Given the description of an element on the screen output the (x, y) to click on. 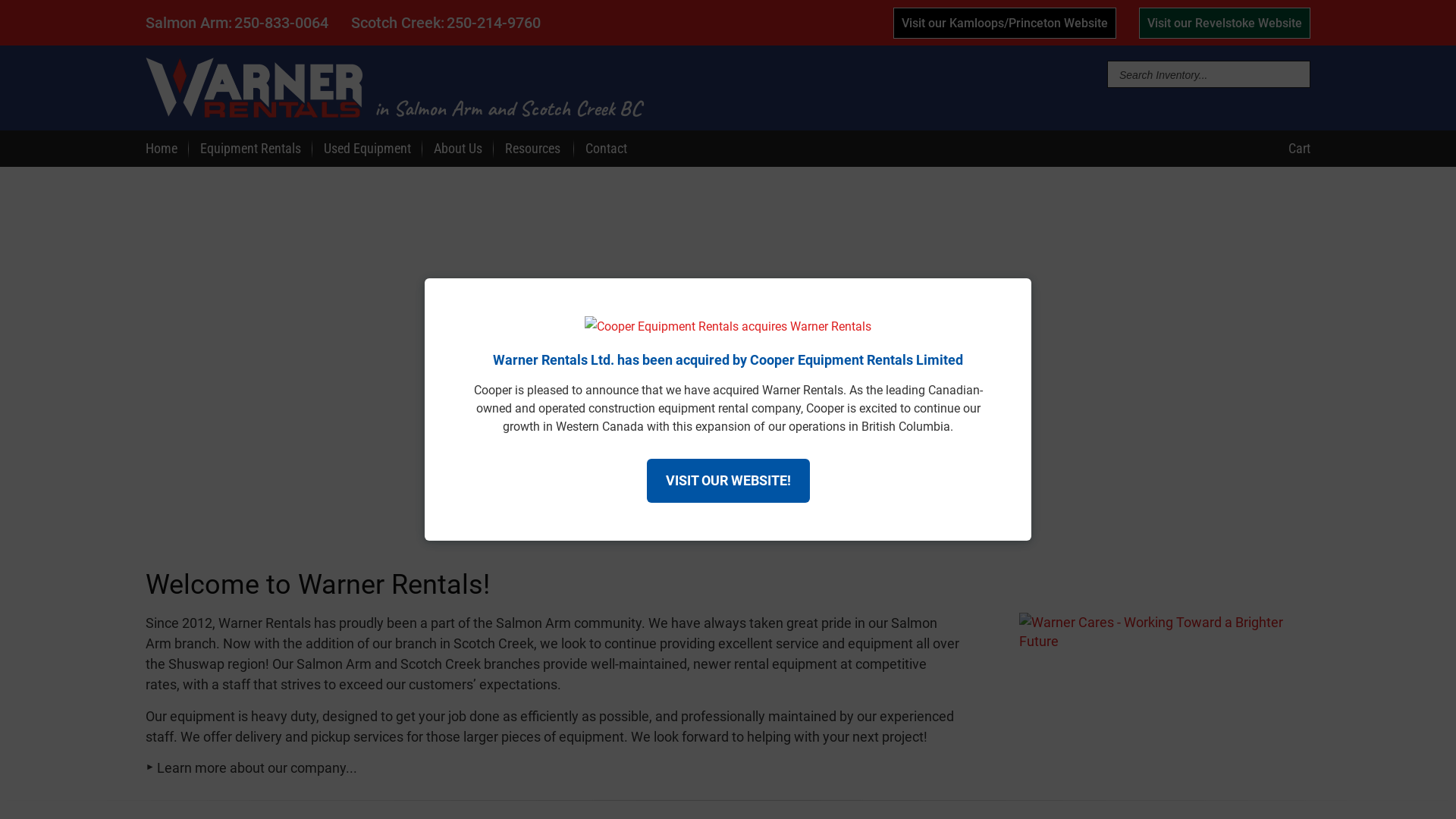
About Us Element type: text (457, 148)
Cart Element type: text (1298, 148)
Equipment Rentals Element type: text (250, 148)
VISIT OUR WEBSITE! Element type: text (727, 480)
Cooper Equipment Rentals website Element type: hover (727, 326)
250-833-0064 Element type: text (281, 22)
Home Element type: text (161, 148)
Resources Element type: text (533, 148)
Used Equipment Element type: text (367, 148)
Visit our Revelstoke Website Element type: text (1224, 22)
Contact Element type: text (606, 148)
Visit our Kamloops/Princeton Website Element type: text (1004, 22)
Learn more about our company... Element type: text (251, 767)
250-214-9760 Element type: text (493, 22)
